Given the description of an element on the screen output the (x, y) to click on. 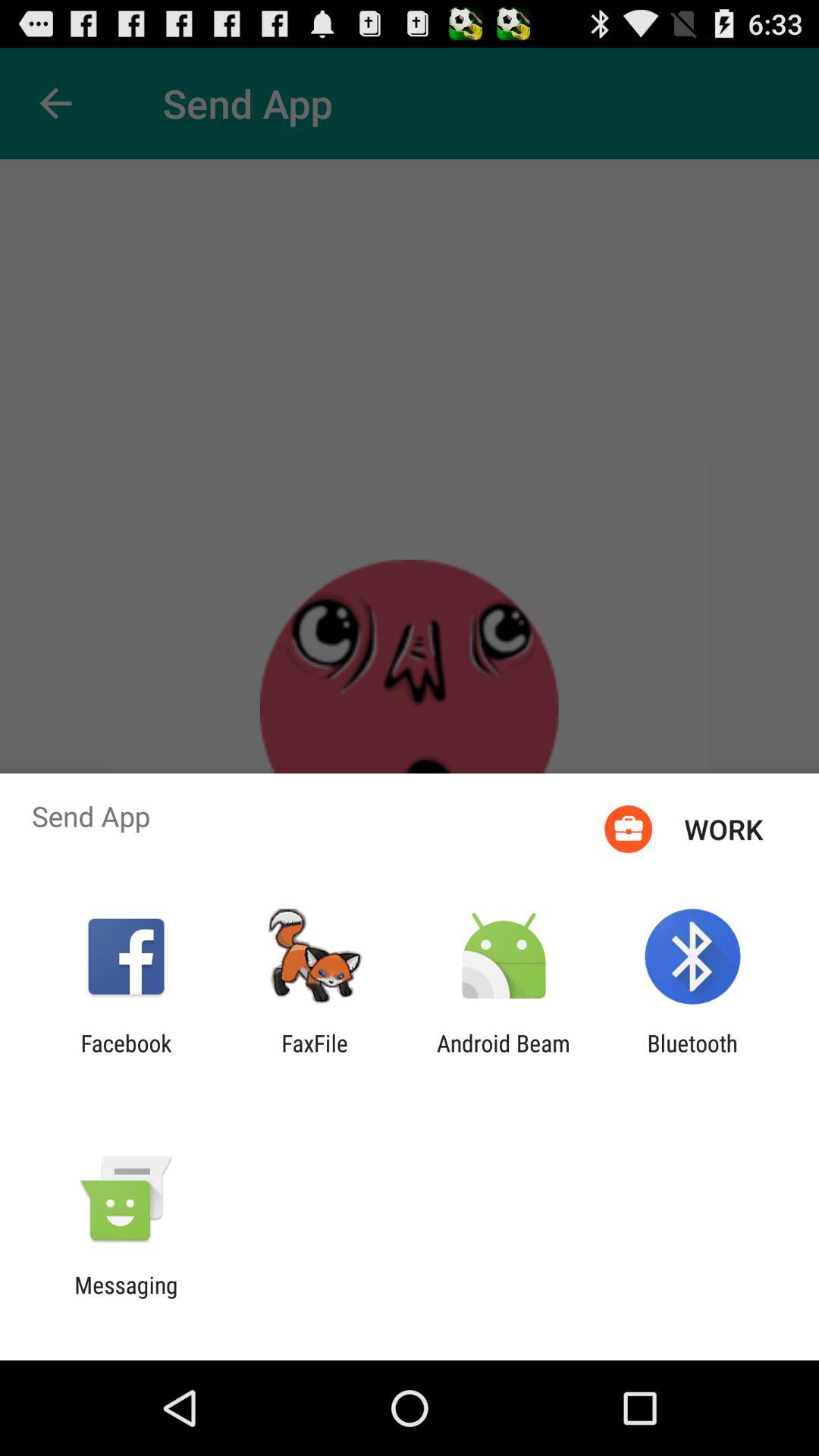
choose android beam (503, 1056)
